Given the description of an element on the screen output the (x, y) to click on. 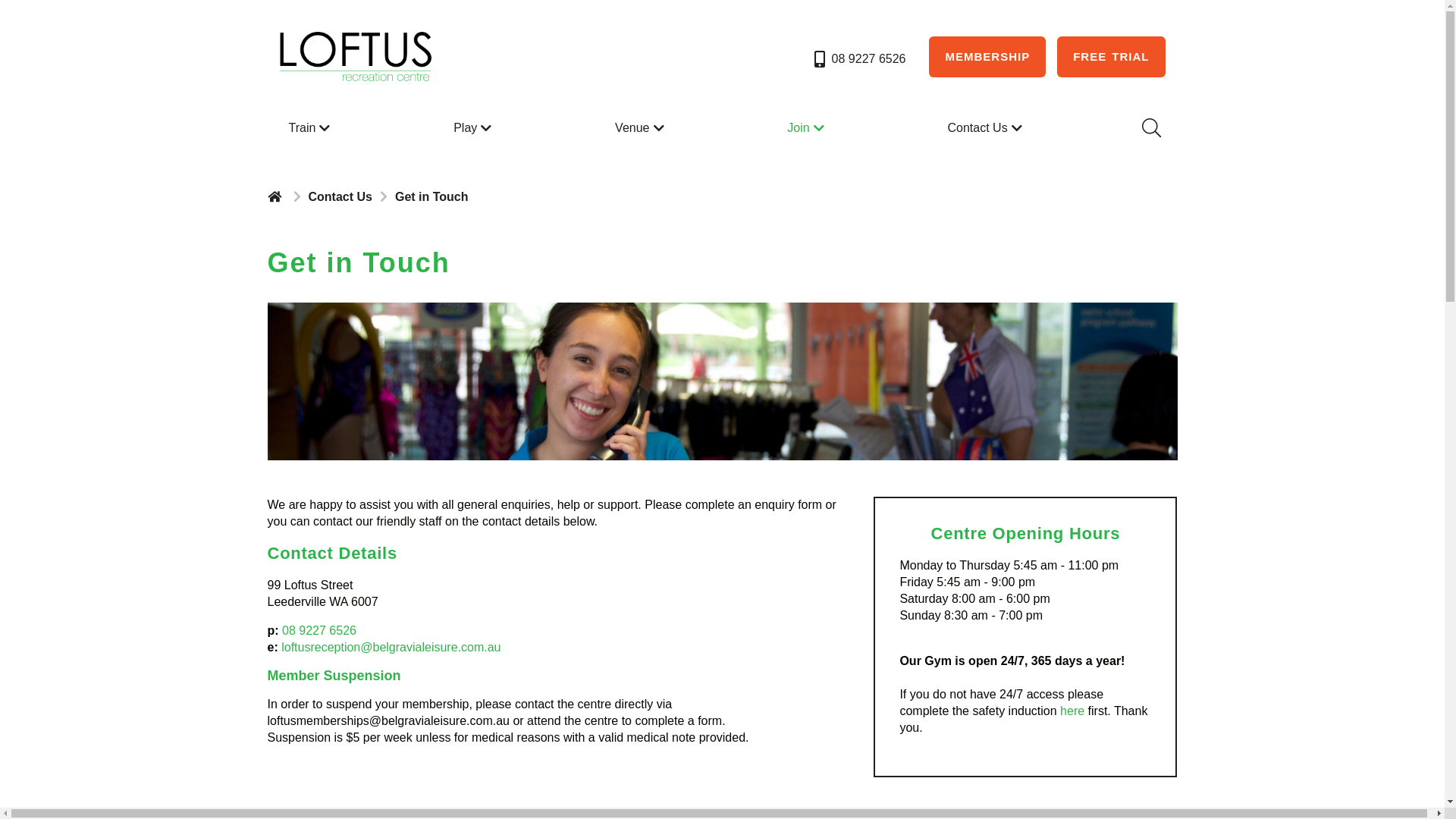
MEMBERSHIP Element type: text (986, 56)
loftusreception@belgravialeisure.com.au Element type: text (390, 646)
Play Element type: text (474, 127)
Venue Element type: text (640, 127)
Search Element type: text (1150, 128)
08 9227 6526 Element type: text (319, 630)
Train Element type: text (310, 127)
Contact Us Element type: text (986, 127)
FREE TRIAL Element type: text (1110, 56)
here Element type: text (1072, 710)
  Element type: text (275, 196)
08 9227 6526 Element type: text (858, 59)
Join Element type: text (807, 127)
